Given the description of an element on the screen output the (x, y) to click on. 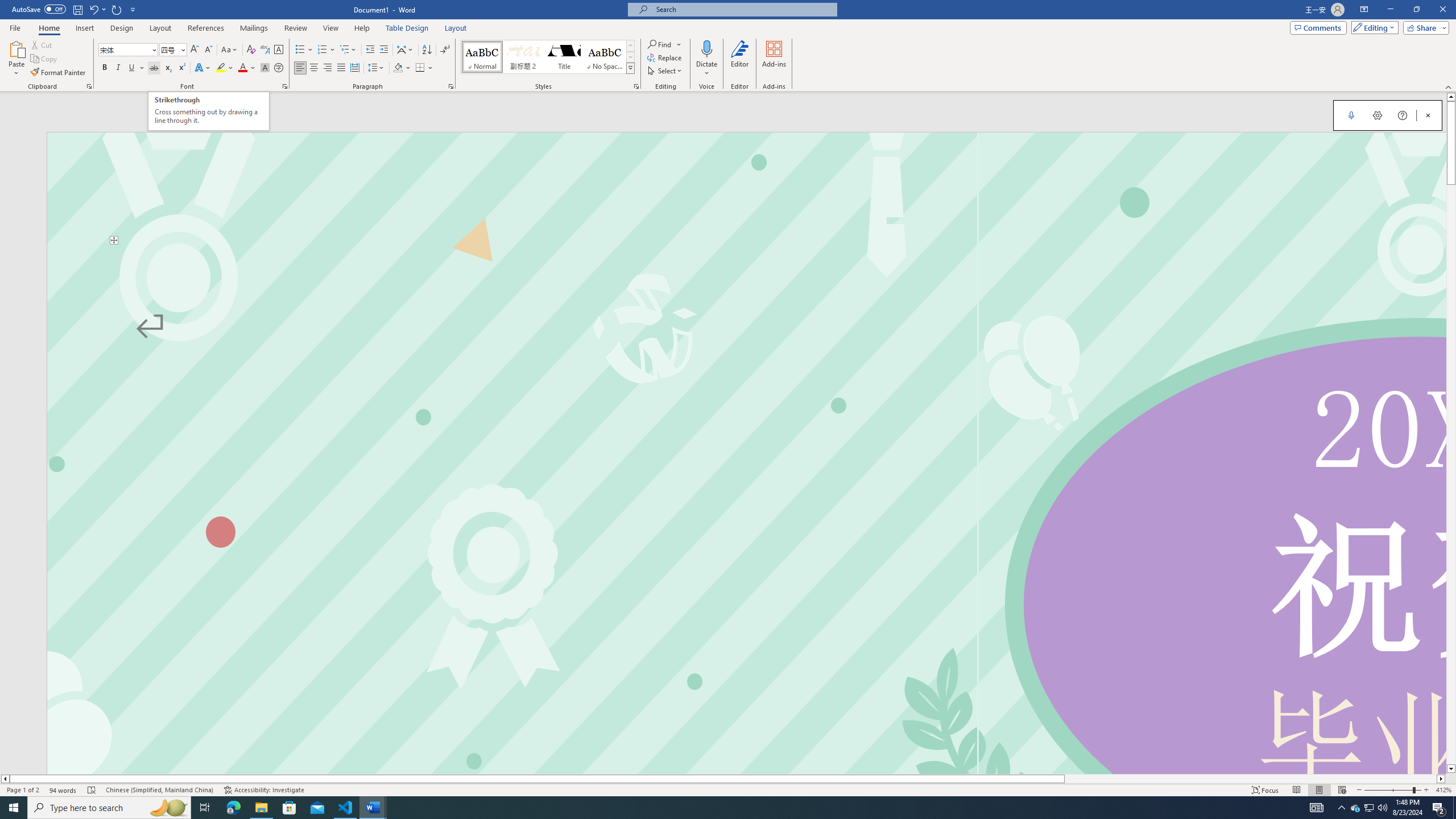
Dictation Settings (1377, 115)
Word Count 94 words (63, 790)
